Given the description of an element on the screen output the (x, y) to click on. 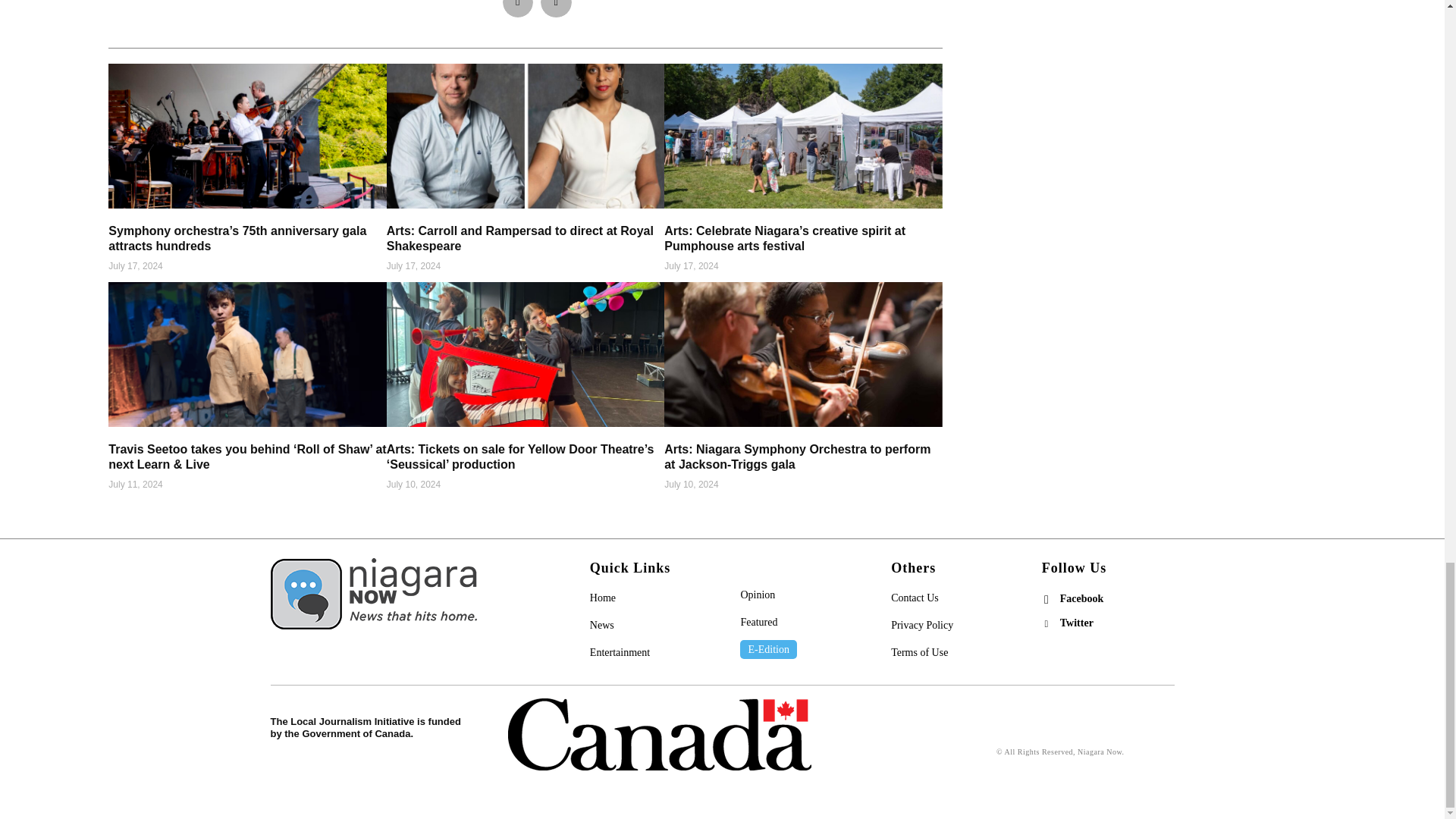
Facebook (1045, 599)
Canada (659, 734)
Twitter (1045, 623)
